Given the description of an element on the screen output the (x, y) to click on. 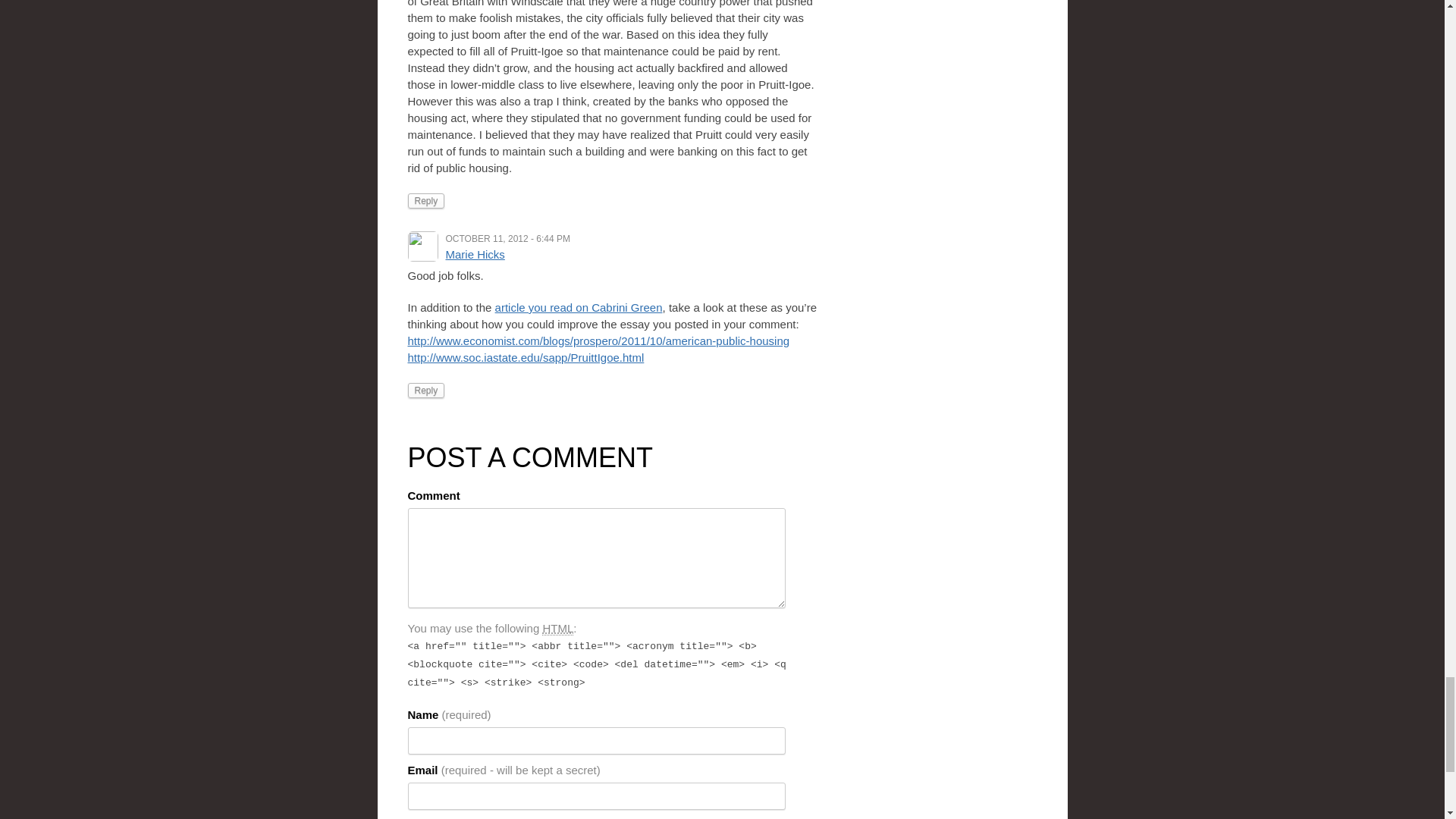
OCTOBER 11, 2012 - 6:44 PM (507, 238)
Marie Hicks (475, 254)
Reply (426, 200)
HyperText Markup Language (557, 628)
Reply (426, 390)
article you read on Cabrini Green (578, 307)
